Given the description of an element on the screen output the (x, y) to click on. 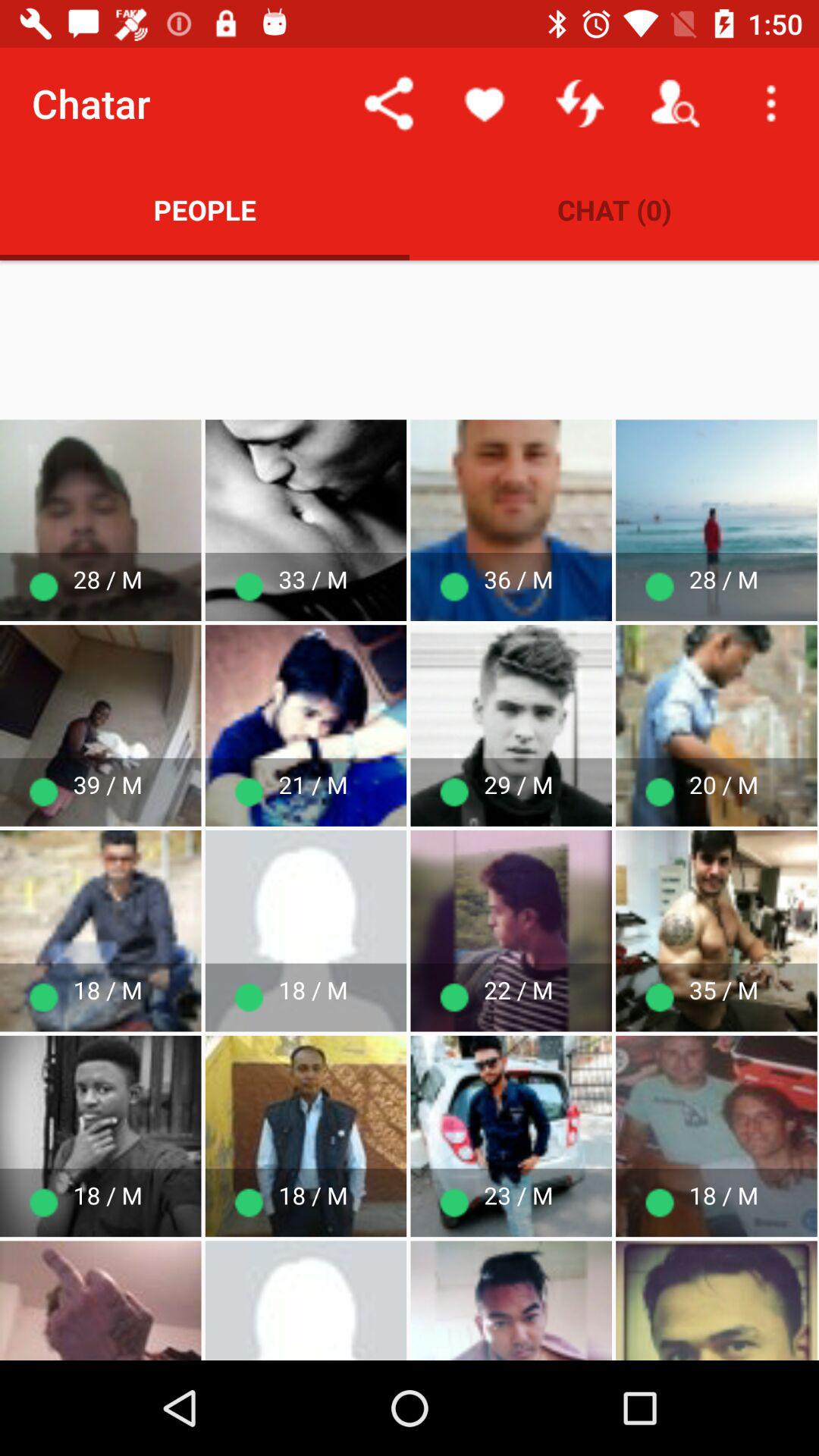
press the app next to the people icon (614, 209)
